Given the description of an element on the screen output the (x, y) to click on. 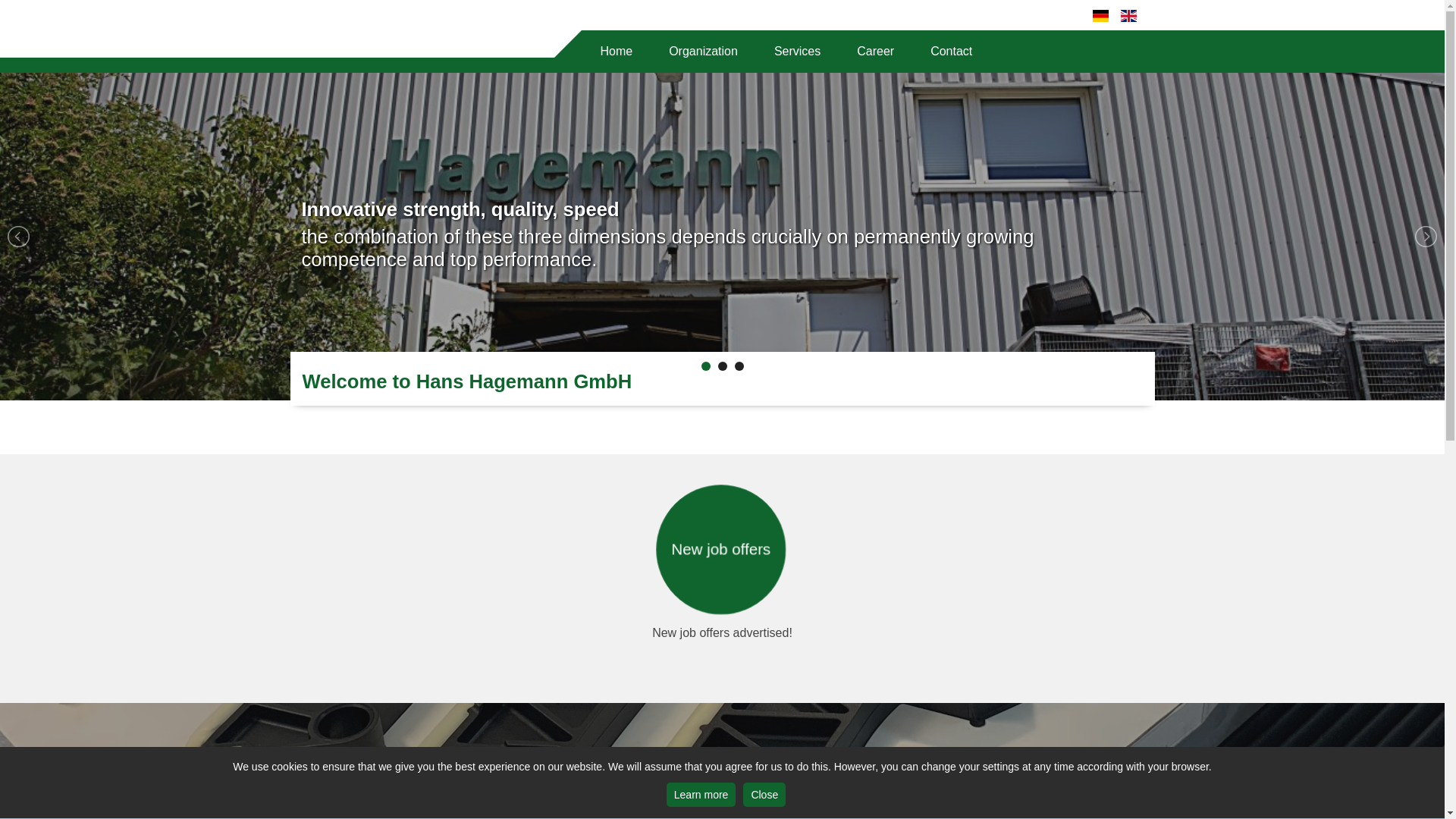
Englisch (1128, 15)
3 (737, 366)
Home (615, 51)
Home (615, 51)
1 (705, 366)
Career (875, 51)
Deutsch (1100, 15)
Deutsch (1100, 15)
Organization (702, 51)
Contact (951, 51)
Services (796, 51)
Career (875, 51)
Englisch (1129, 15)
2 (721, 366)
Services (796, 51)
